Given the description of an element on the screen output the (x, y) to click on. 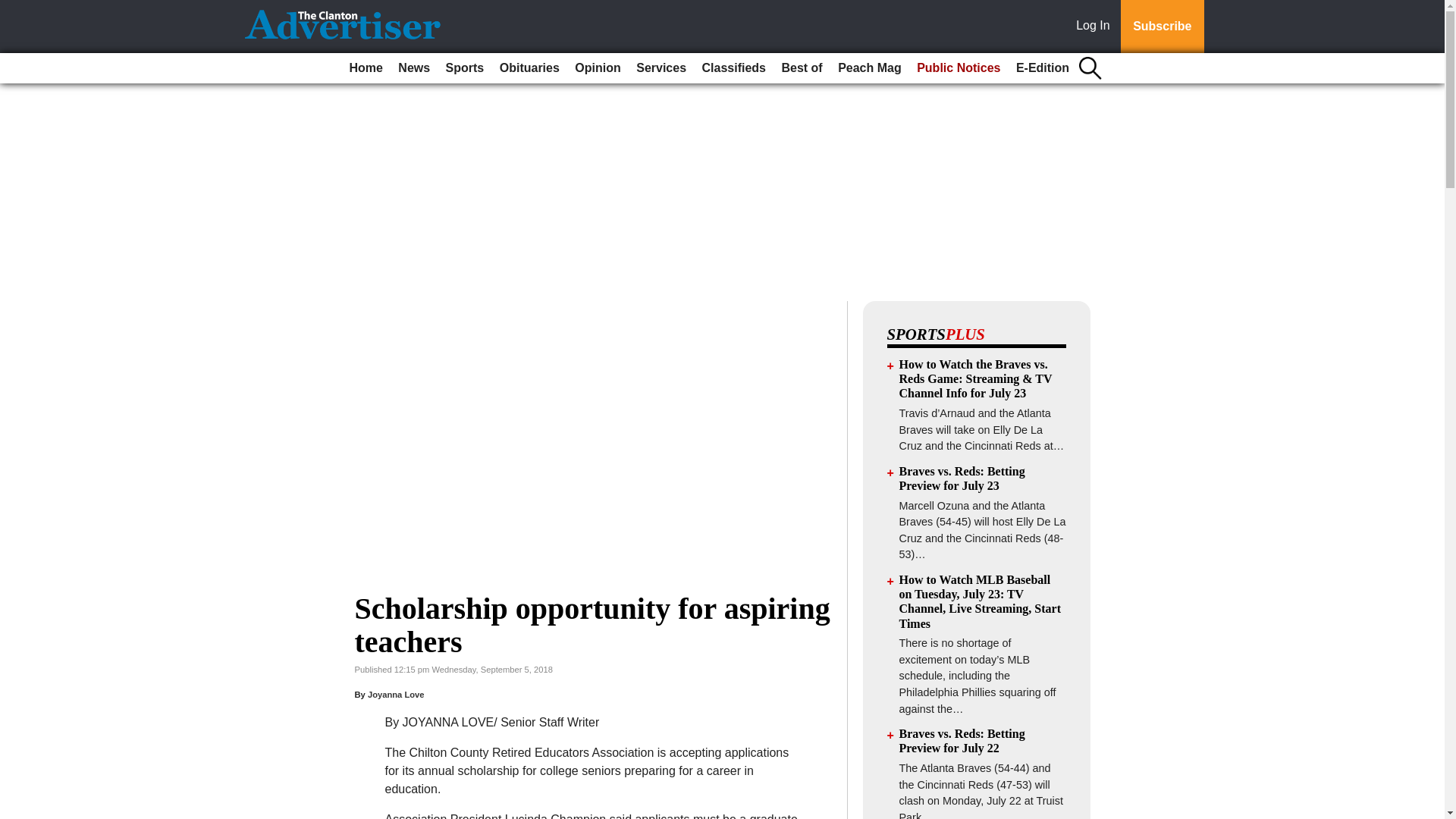
Opinion (597, 68)
Public Notices (958, 68)
Go (13, 9)
Best of (801, 68)
Peach Mag (869, 68)
Home (365, 68)
Log In (1095, 26)
Classifieds (733, 68)
Services (661, 68)
Joyanna Love (396, 694)
E-Edition (1042, 68)
News (413, 68)
Obituaries (529, 68)
Subscribe (1162, 26)
